Given the description of an element on the screen output the (x, y) to click on. 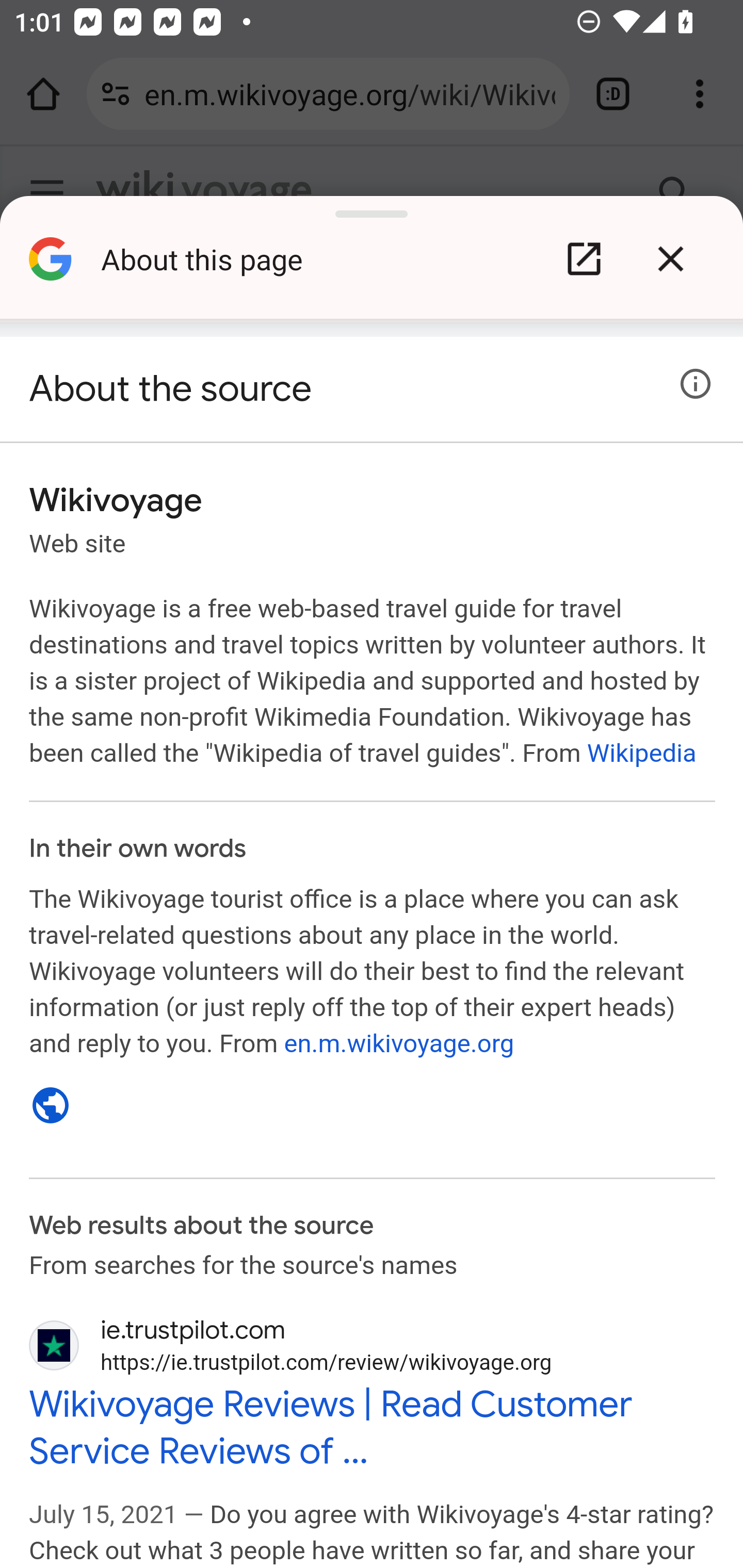
About this page Open in new tab Close (371, 266)
Open in new tab (583, 259)
Close (670, 259)
Support about the source (695, 384)
Wikipedia (640, 752)
en.m.wikivoyage.org (398, 1043)
Official site, Wikivoyage (51, 1104)
